Given the description of an element on the screen output the (x, y) to click on. 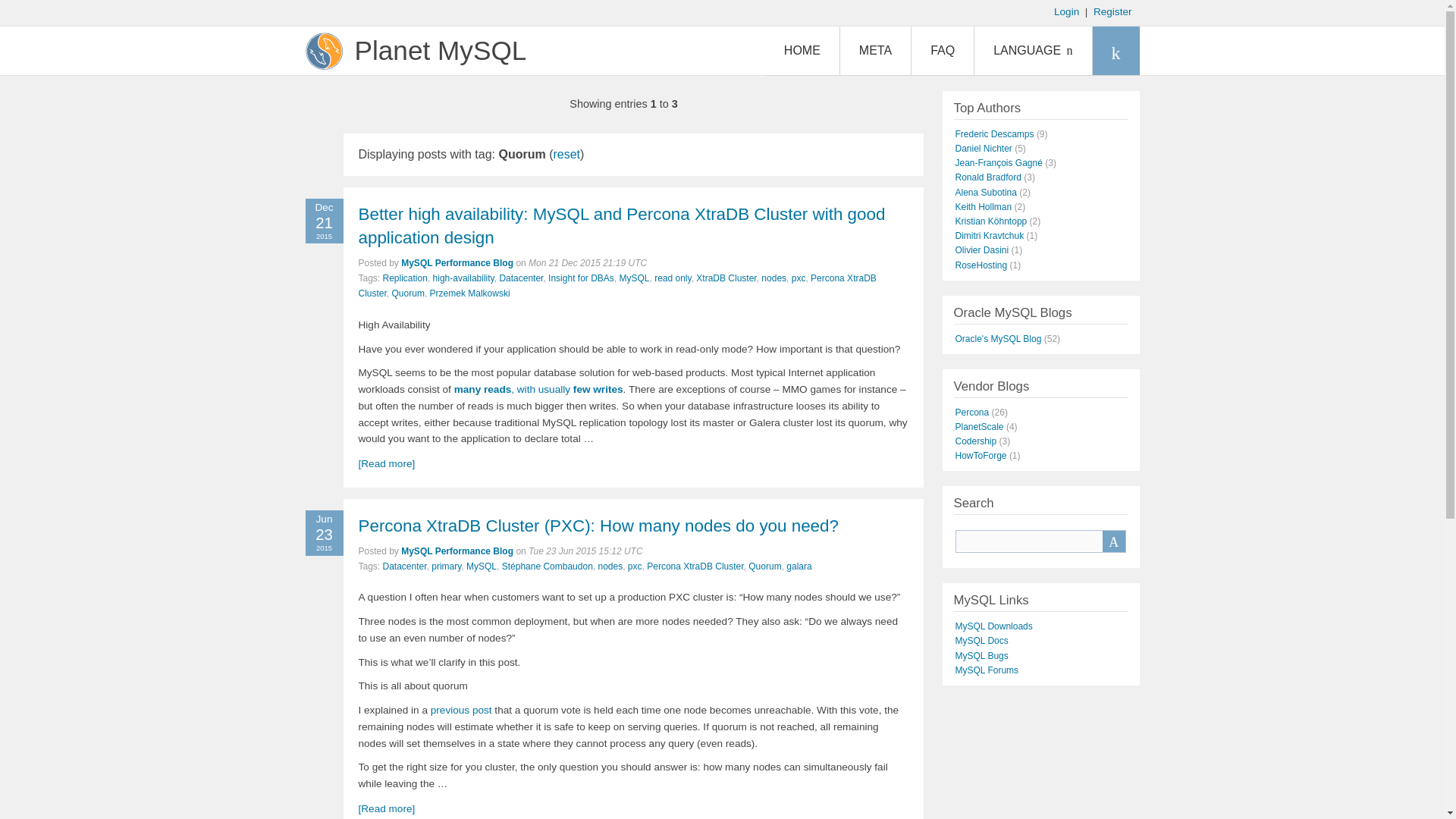
Replication (405, 277)
XtraDB Cluster (725, 277)
reset (566, 154)
primary (445, 566)
nodes (773, 277)
pxc (799, 277)
MySQL Performance Blog (457, 551)
MySQL Performance Blog (457, 262)
Datacenter (404, 566)
Register (1112, 11)
Percona XtraDB Cluster (617, 285)
HOME (802, 50)
many reads, with usually few writes (538, 389)
Quorum (408, 293)
